Given the description of an element on the screen output the (x, y) to click on. 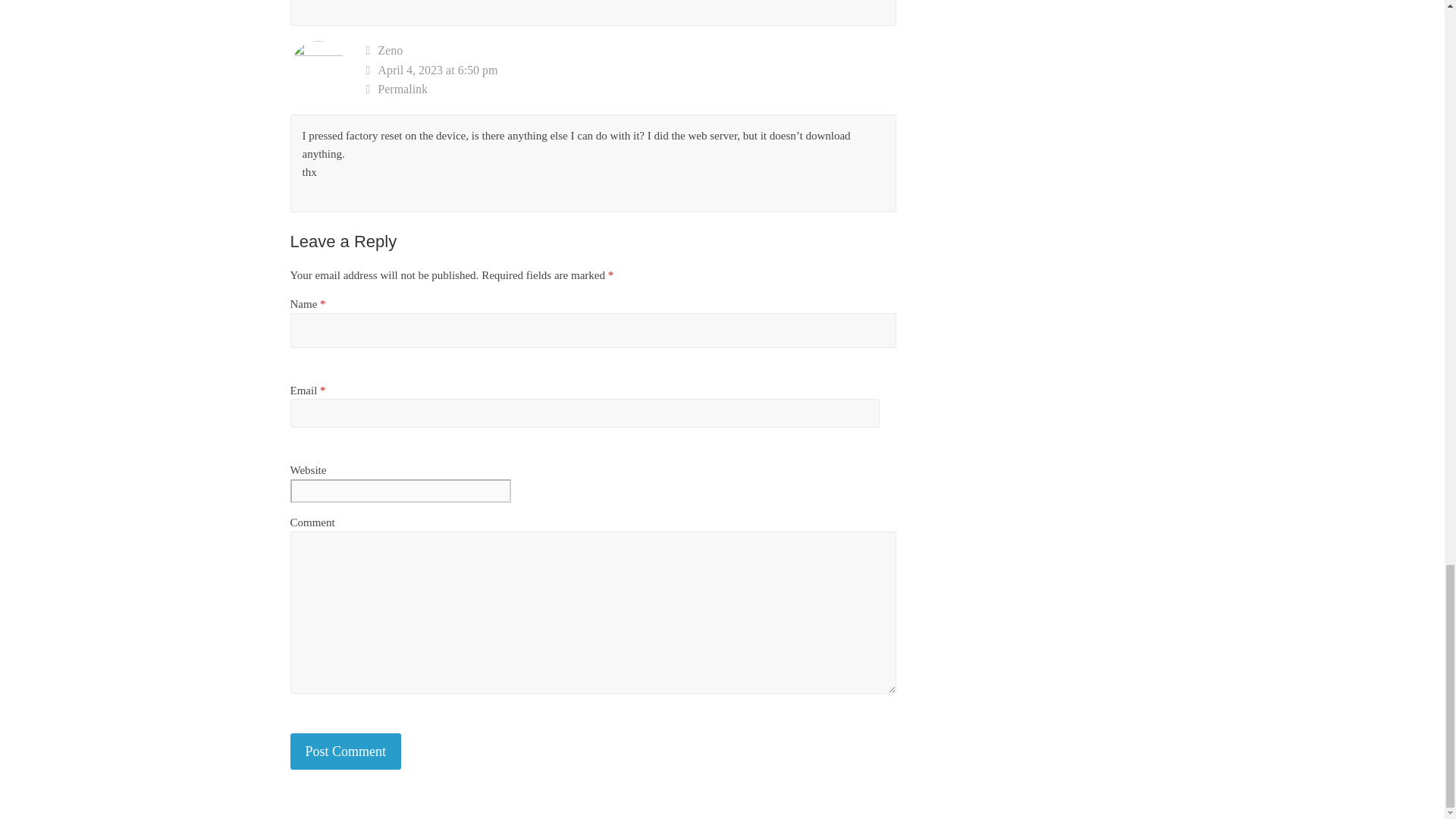
Post Comment (345, 751)
Permalink (630, 89)
